Given the description of an element on the screen output the (x, y) to click on. 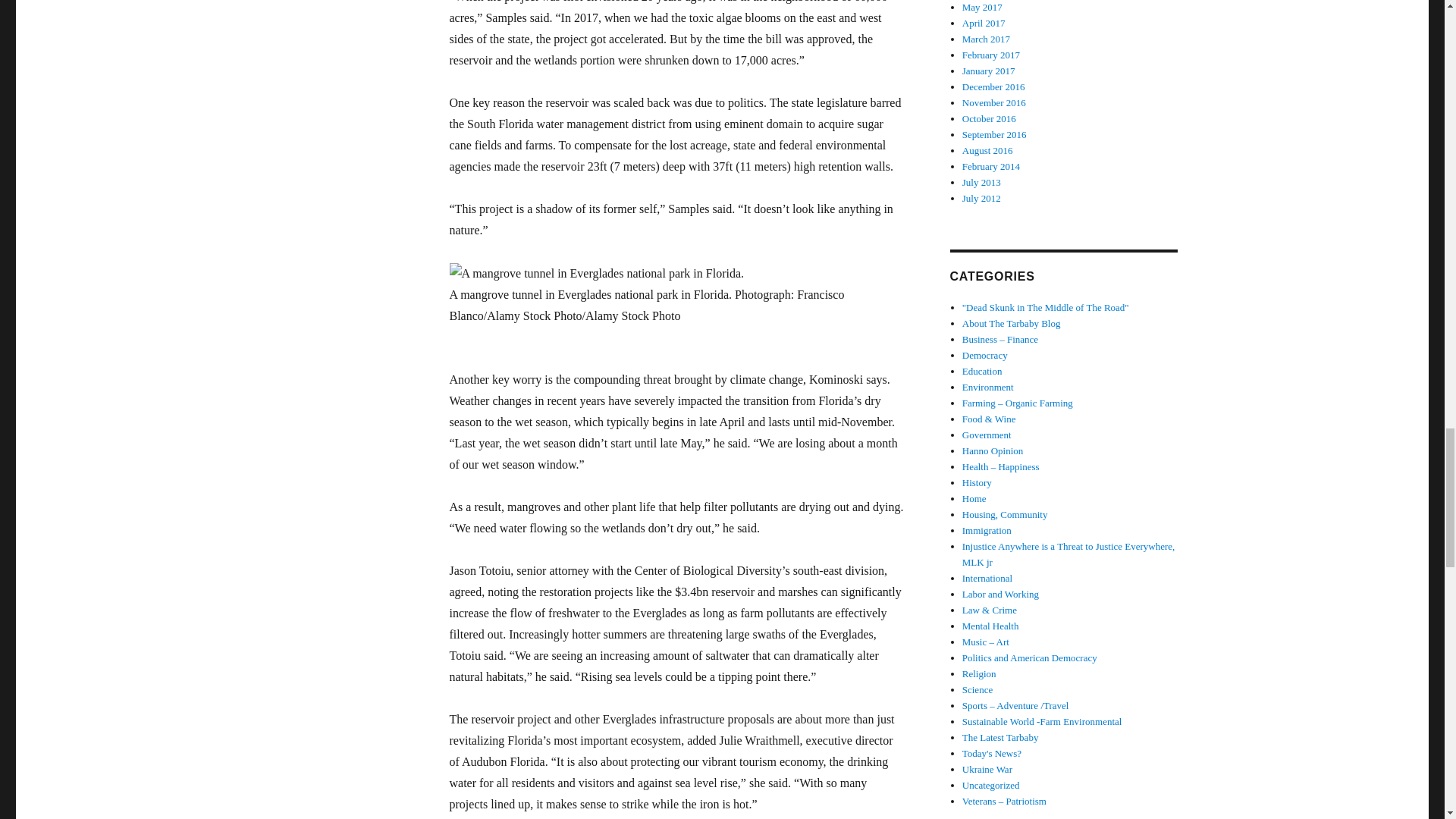
Read about the origins of this Tarbaby Blog (1011, 323)
Stories of injustice and justice (1068, 554)
Issues and events that stink to high heaven (1045, 307)
Presenting another Tarbaby (1000, 737)
